Given the description of an element on the screen output the (x, y) to click on. 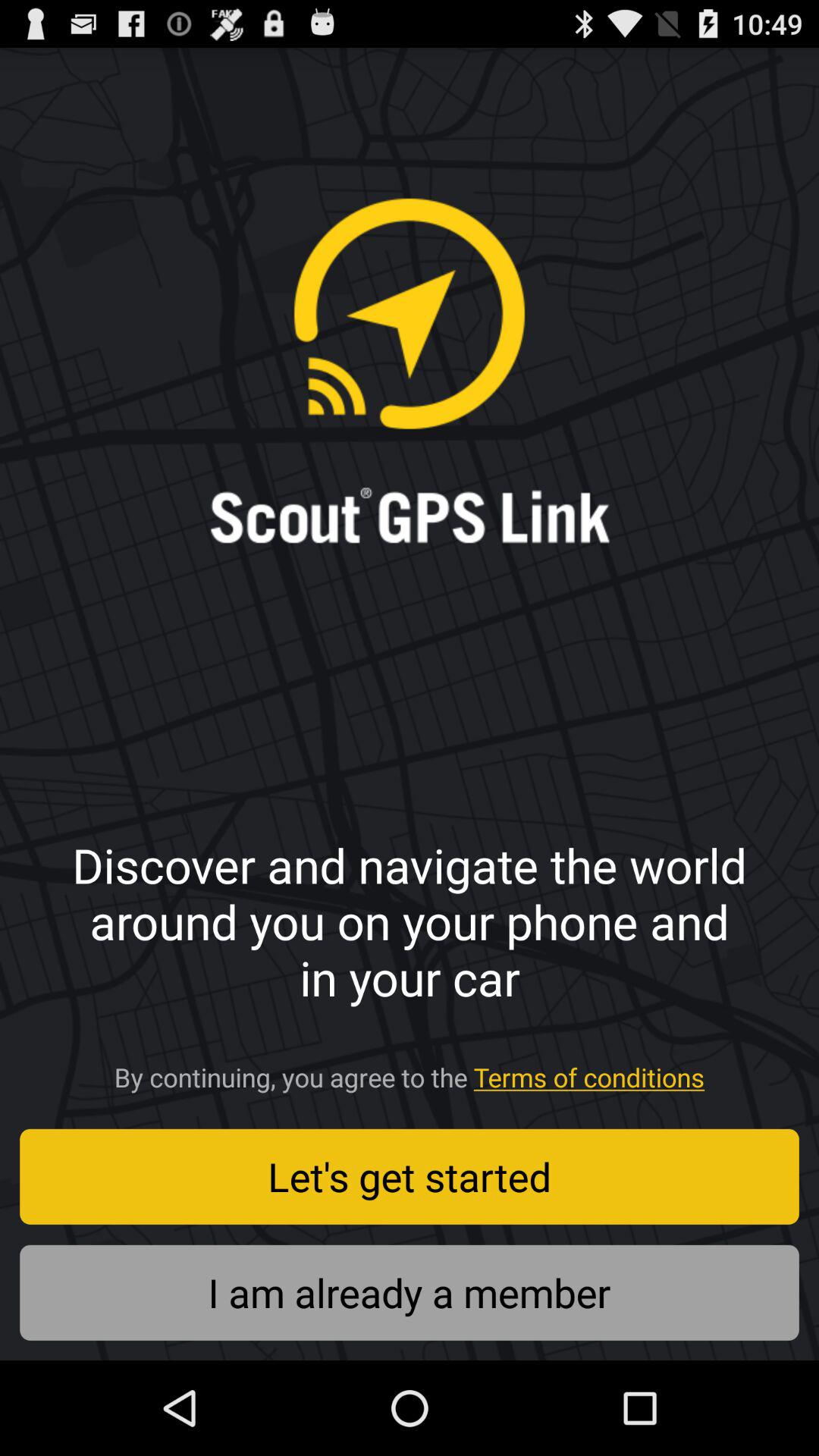
jump to let s get icon (409, 1176)
